Given the description of an element on the screen output the (x, y) to click on. 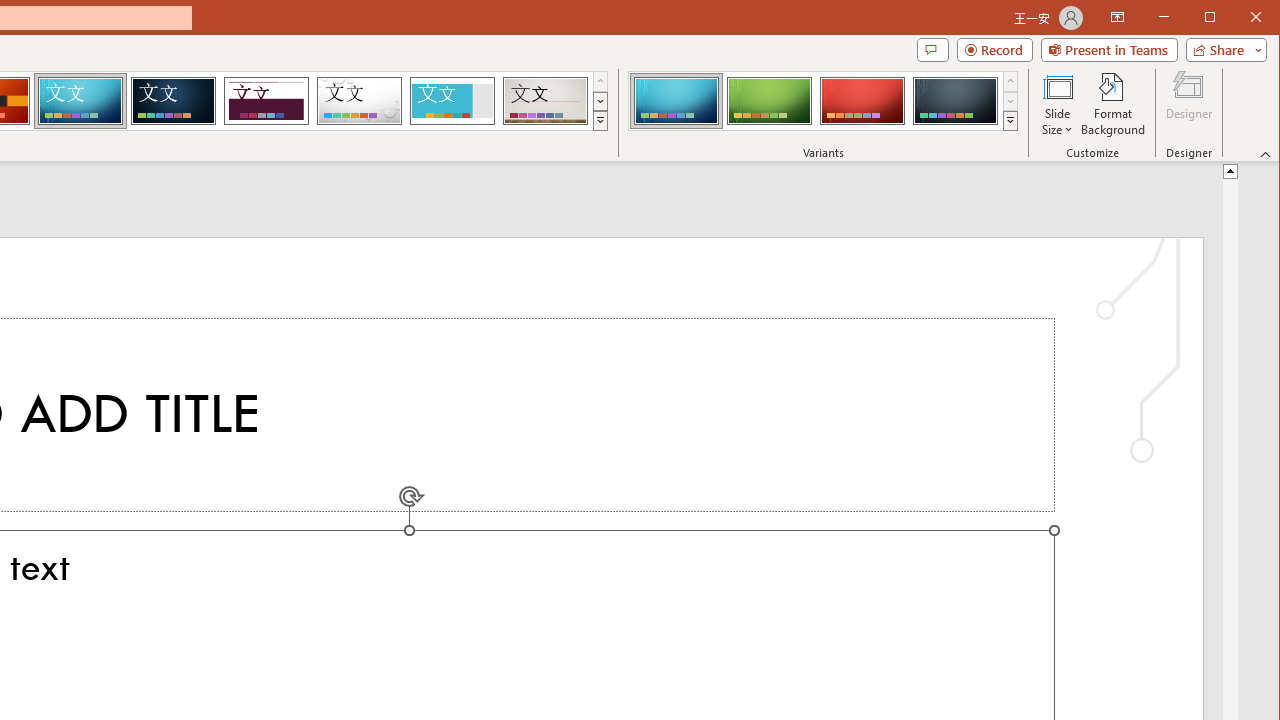
Circuit Variant 3 (862, 100)
Circuit Variant 1 (676, 100)
Circuit Variant 2 (769, 100)
Frame (452, 100)
Droplet (359, 100)
Damask (173, 100)
Circuit (80, 100)
